Given the description of an element on the screen output the (x, y) to click on. 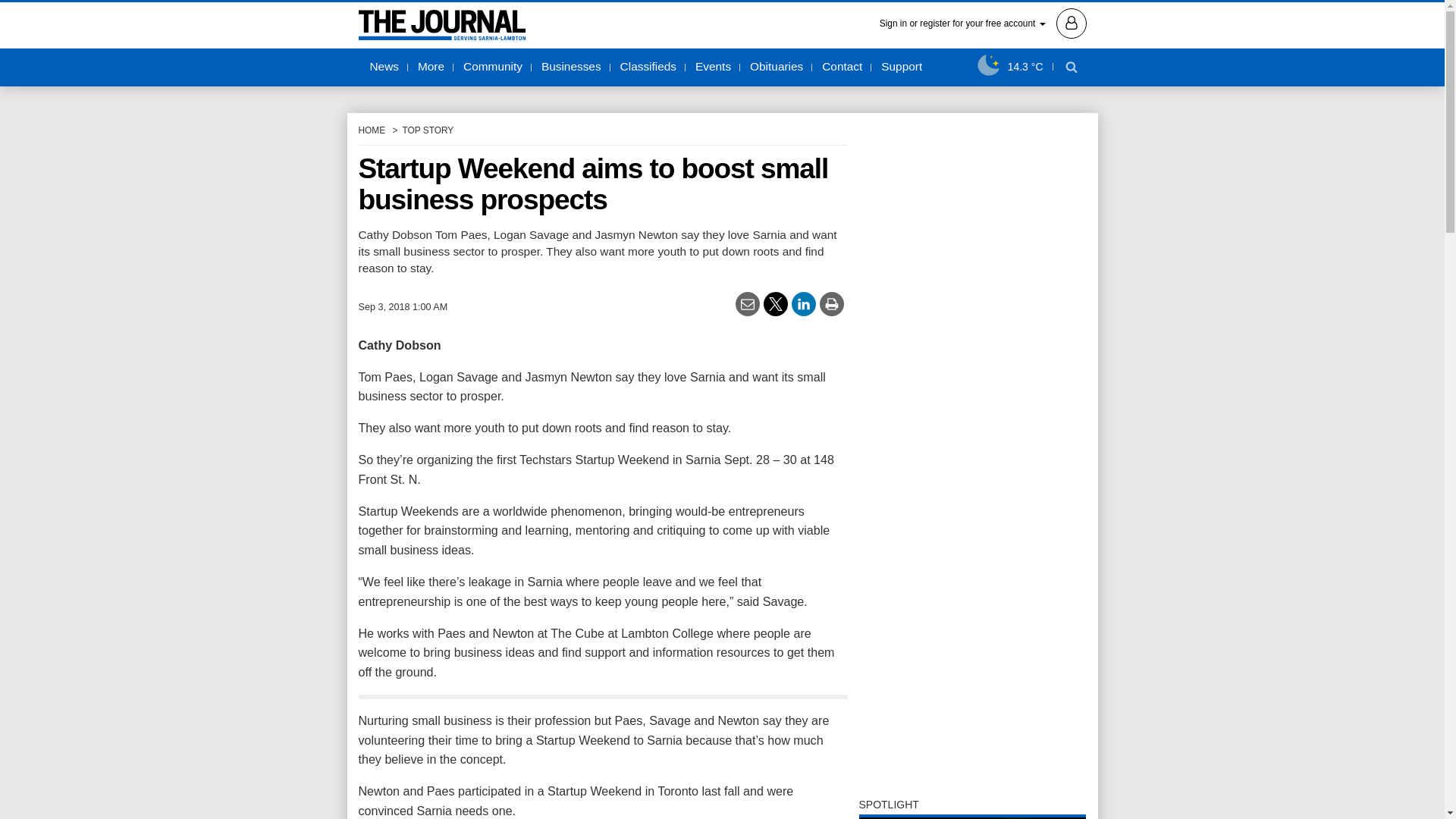
Community (493, 67)
News (383, 67)
3rd party ad content (972, 351)
3rd party ad content (972, 688)
Sign in or register for your free account (982, 22)
